Given the description of an element on the screen output the (x, y) to click on. 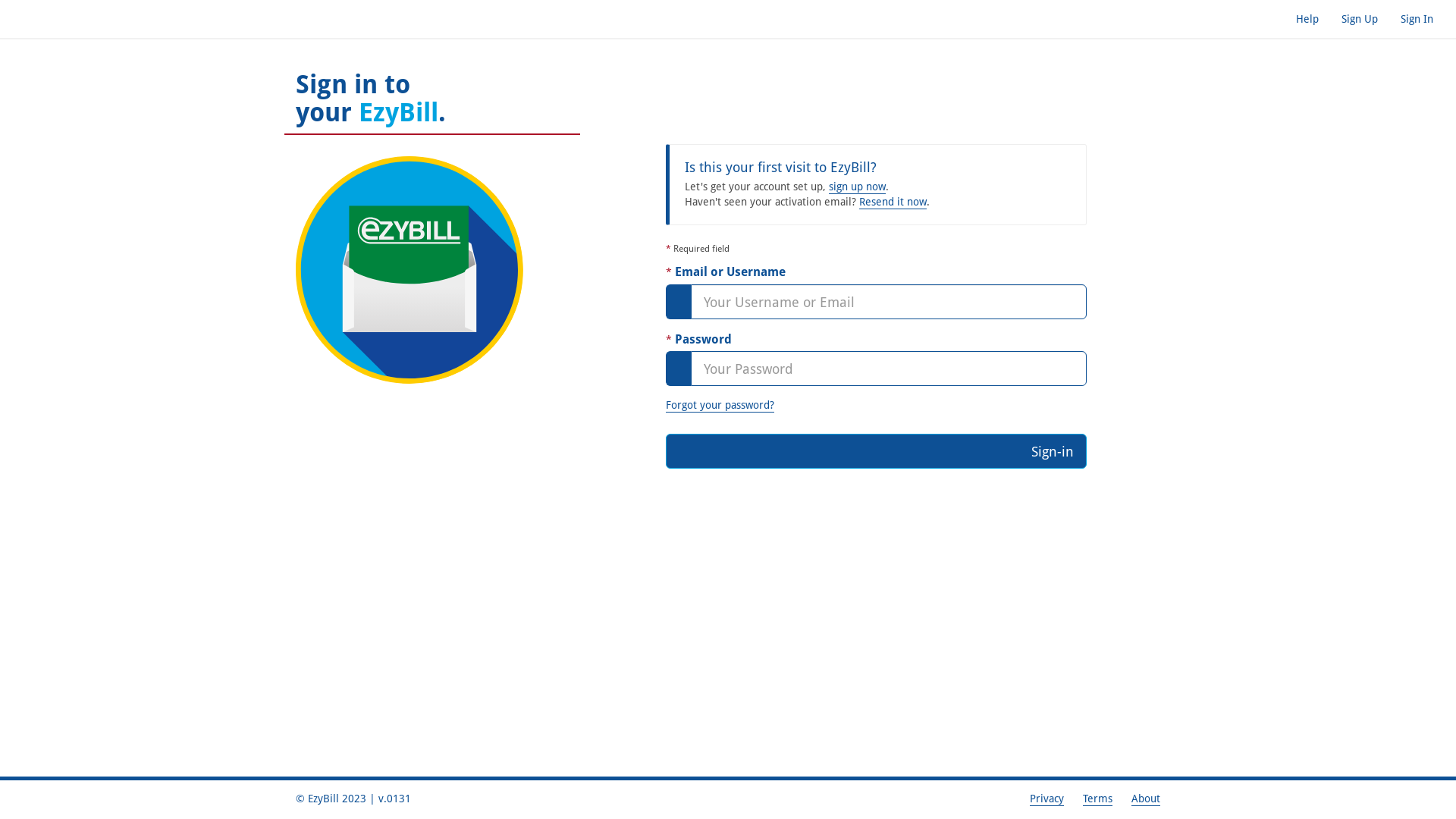
Privacy Element type: text (1046, 798)
Resend it now Element type: text (891, 201)
Sign Up Element type: text (1359, 18)
sign up now Element type: text (856, 186)
Help Element type: text (1307, 18)
About Element type: text (1145, 798)
Sign In Element type: text (1416, 18)
Terms Element type: text (1097, 798)
Adelaide Plains Council Element type: text (68, 18)
Sign-in Element type: text (875, 450)
Forgot your password? Element type: text (719, 404)
